Given the description of an element on the screen output the (x, y) to click on. 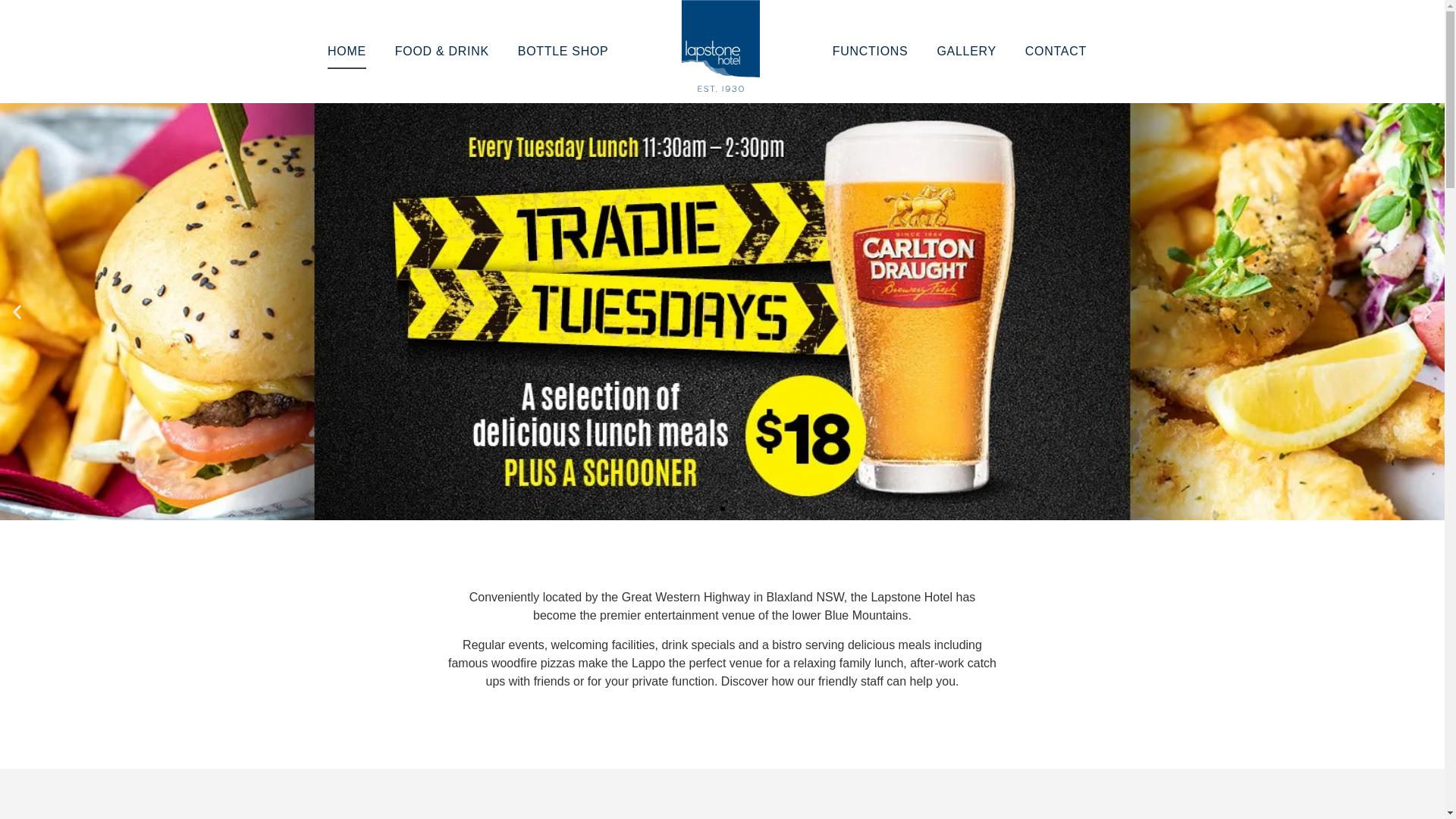
BOTTLE SHOP Element type: text (562, 51)
CONTACT Element type: text (1055, 51)
GALLERY Element type: text (965, 51)
FOOD & DRINK Element type: text (442, 51)
HOME Element type: text (346, 51)
FUNCTIONS Element type: text (870, 51)
